Given the description of an element on the screen output the (x, y) to click on. 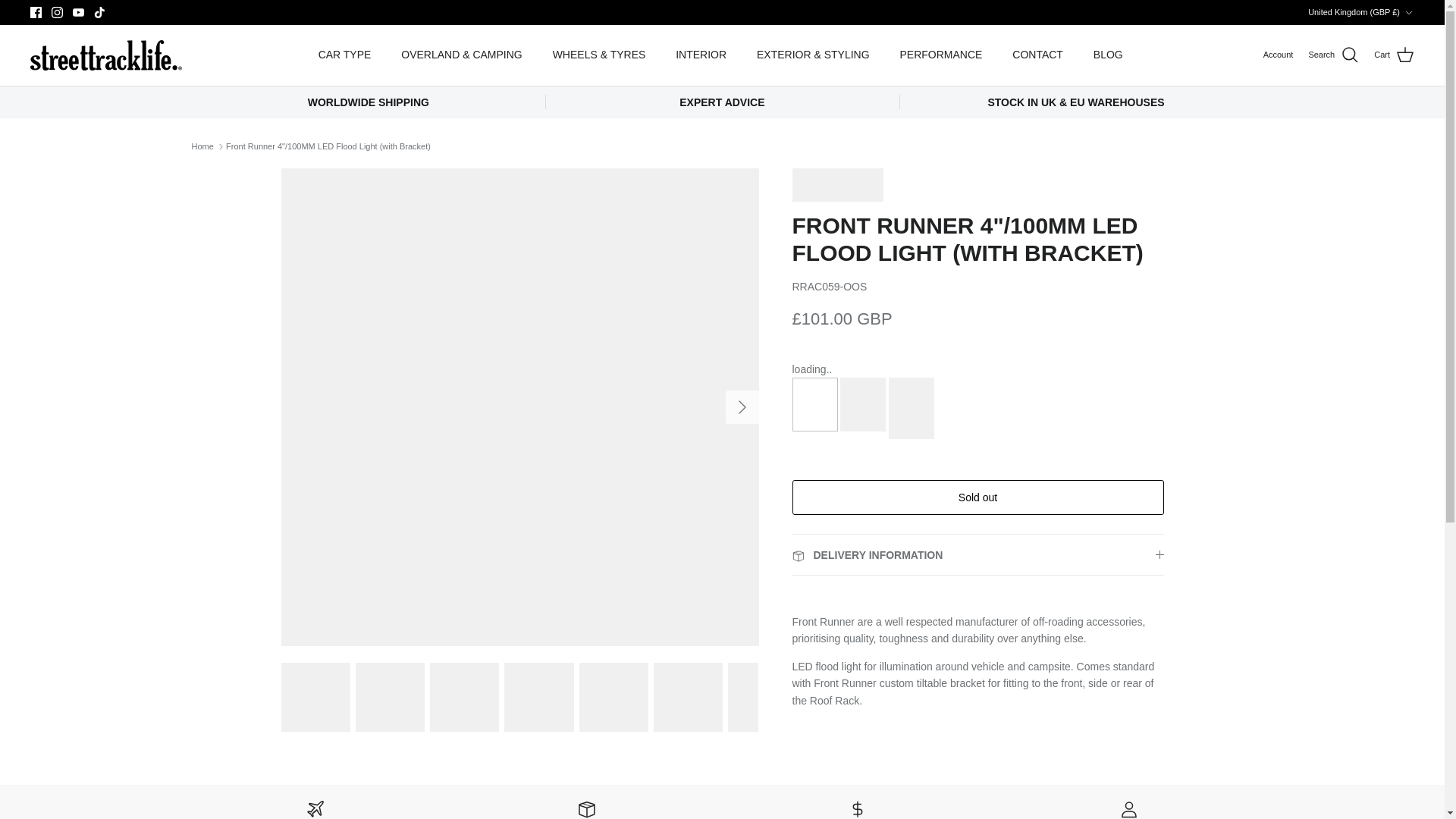
Down (1408, 12)
Youtube (78, 12)
Facebook (36, 12)
STREET TRACK LIFE (106, 55)
Instagram (56, 12)
Facebook (36, 12)
Right (741, 406)
Youtube (78, 12)
Instagram (56, 12)
